Given the description of an element on the screen output the (x, y) to click on. 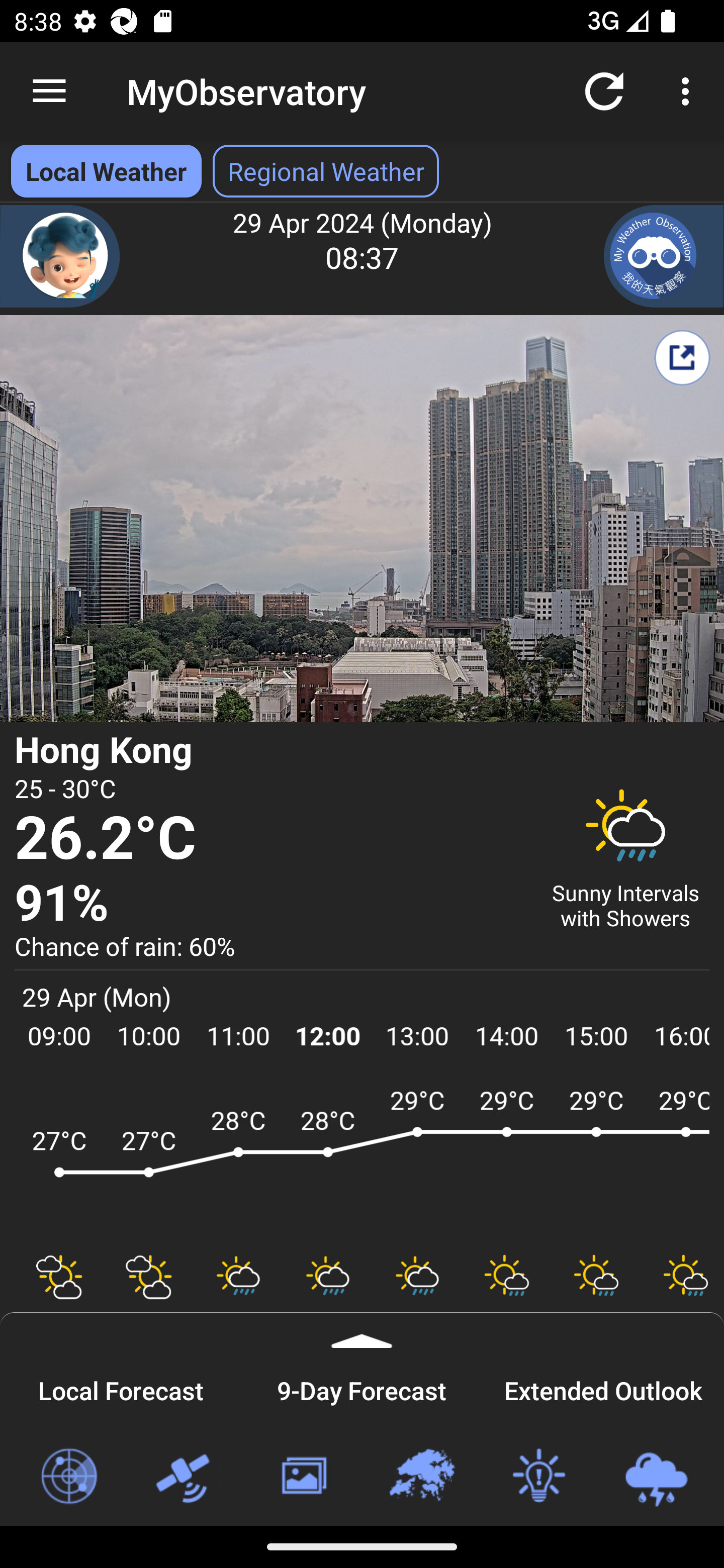
Navigate up (49, 91)
Refresh (604, 90)
More options (688, 90)
Local Weather Local Weather selected (105, 170)
Regional Weather Select Regional Weather (325, 170)
Chatbot (60, 256)
My Weather Observation (663, 256)
Share My Weather Report (681, 357)
26.2°C Temperature
26.2 degree Celsius (270, 839)
91% Relative Humidity
91 percent (270, 903)
ARWF (361, 1160)
Expand (362, 1330)
Local Forecast (120, 1387)
Extended Outlook (603, 1387)
Radar Images (68, 1476)
Satellite Images (185, 1476)
Weather Photos (302, 1476)
Regional Weather (420, 1476)
Weather Tips (537, 1476)
Loc-based Rain & Lightning Forecast (655, 1476)
